Given the description of an element on the screen output the (x, y) to click on. 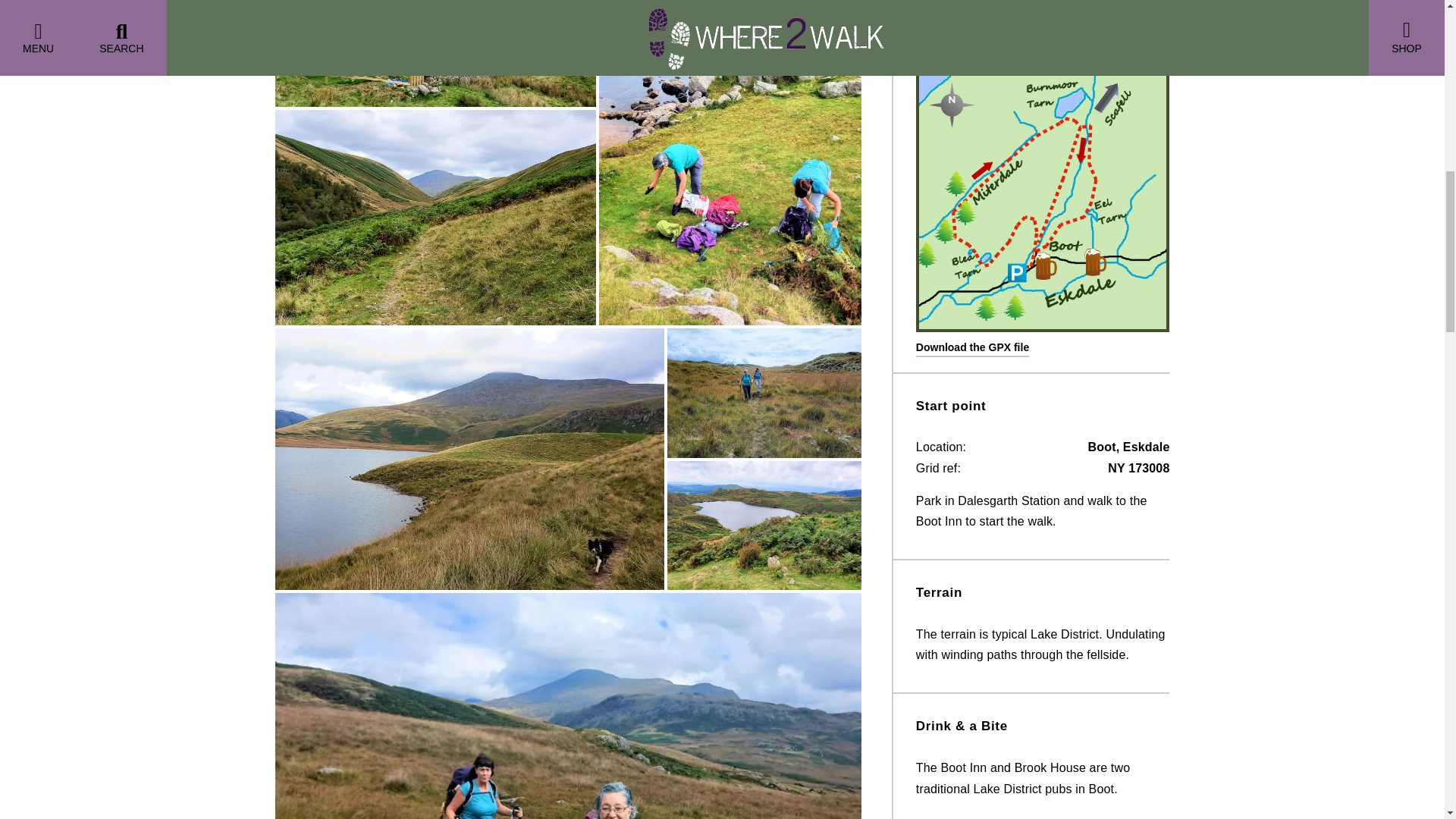
Get the GPX file (972, 348)
2.5 (1042, 33)
